Given the description of an element on the screen output the (x, y) to click on. 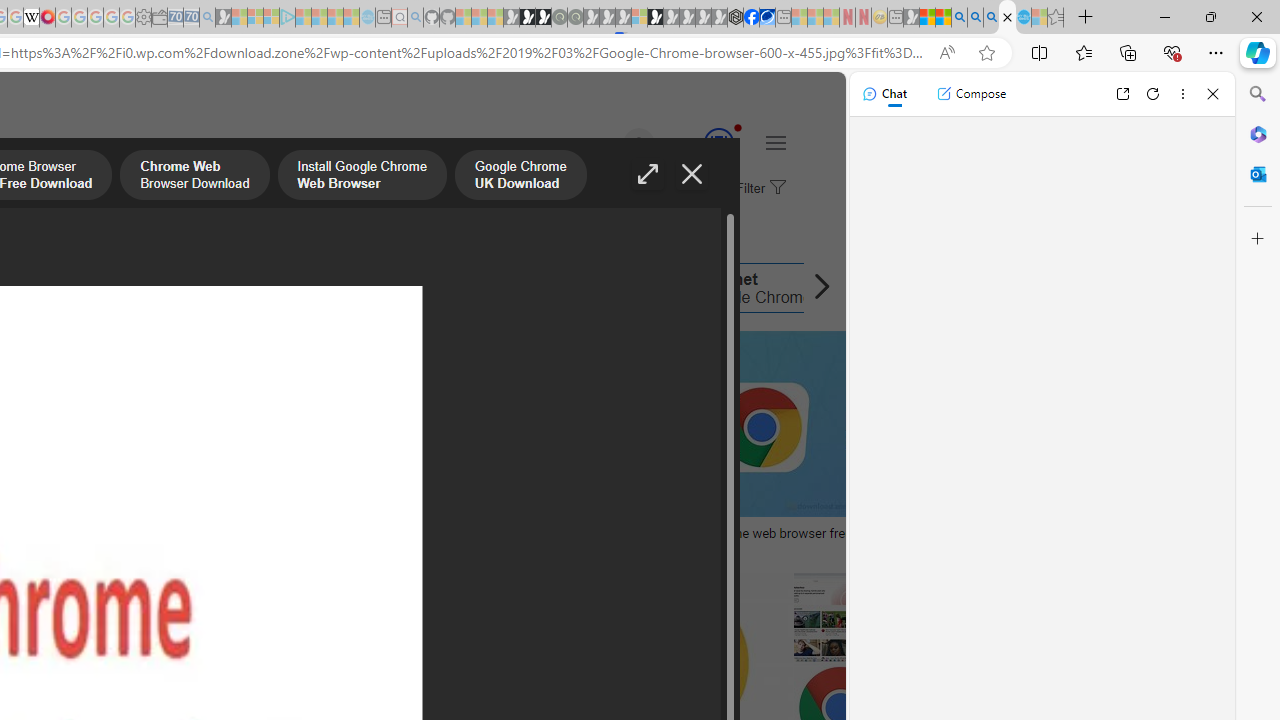
Internet Google Chrome (669, 287)
Microsoft Rewards 84 (700, 143)
Scroll right (816, 287)
Latest Google Chrome Free Download (228, 287)
Google Chrome Internet Browser Download - Search Images (1007, 17)
Latest Google Chrome Free Download (322, 287)
Settings and quick links (775, 142)
